Given the description of an element on the screen output the (x, y) to click on. 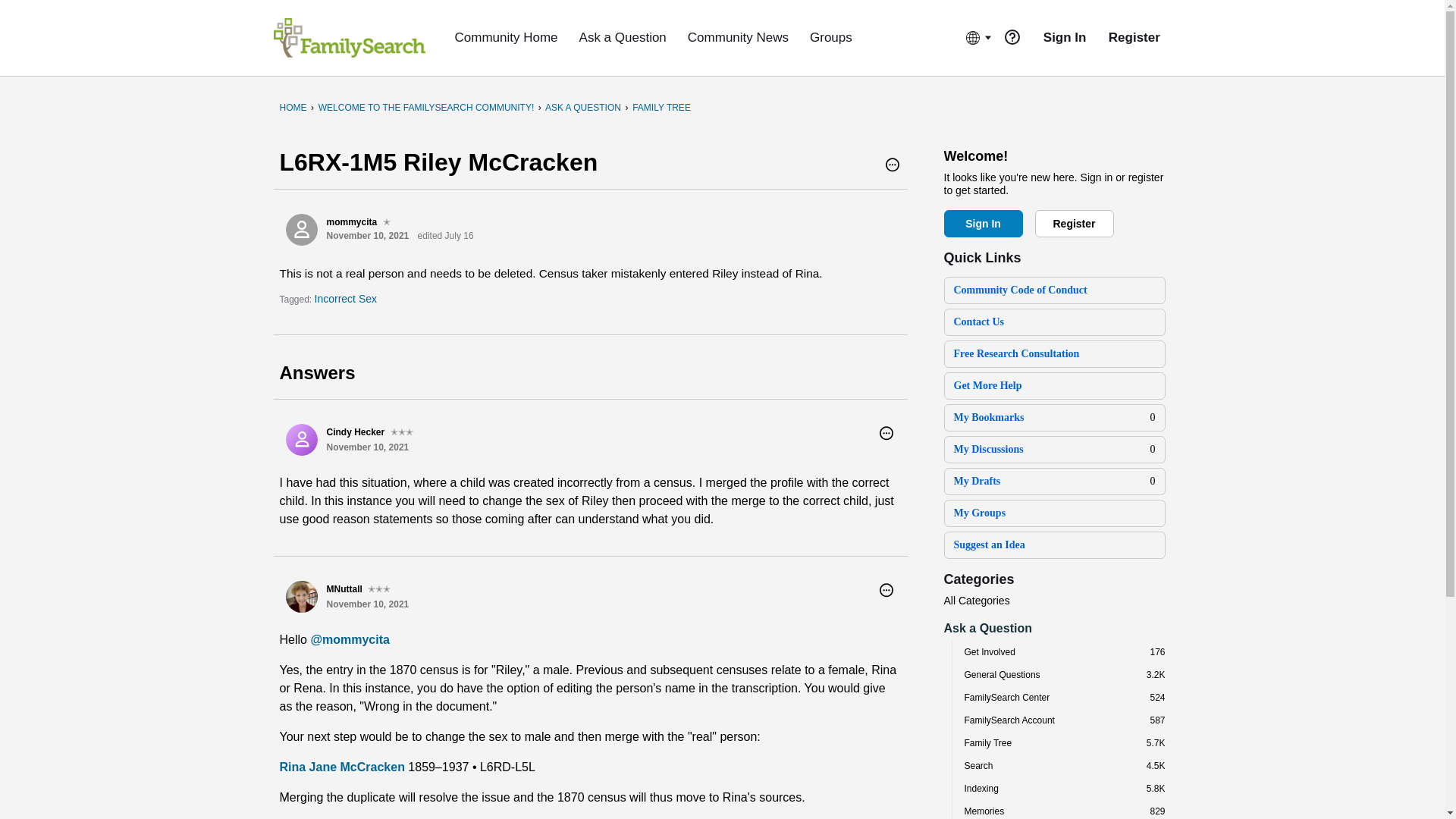
176 discussions (1157, 652)
November 10, 2021 10:13PM (367, 603)
notice-question (1012, 36)
Register (1073, 222)
524 discussions (1157, 697)
Sign In (982, 222)
mommycita (301, 229)
MNuttall (301, 596)
Cindy Hecker (301, 439)
Level 3 (379, 589)
November 10, 2021 9:51PM (367, 235)
November 10, 2021 10:09PM (367, 447)
3,150 discussions (1156, 674)
Level 3 (401, 431)
